Given the description of an element on the screen output the (x, y) to click on. 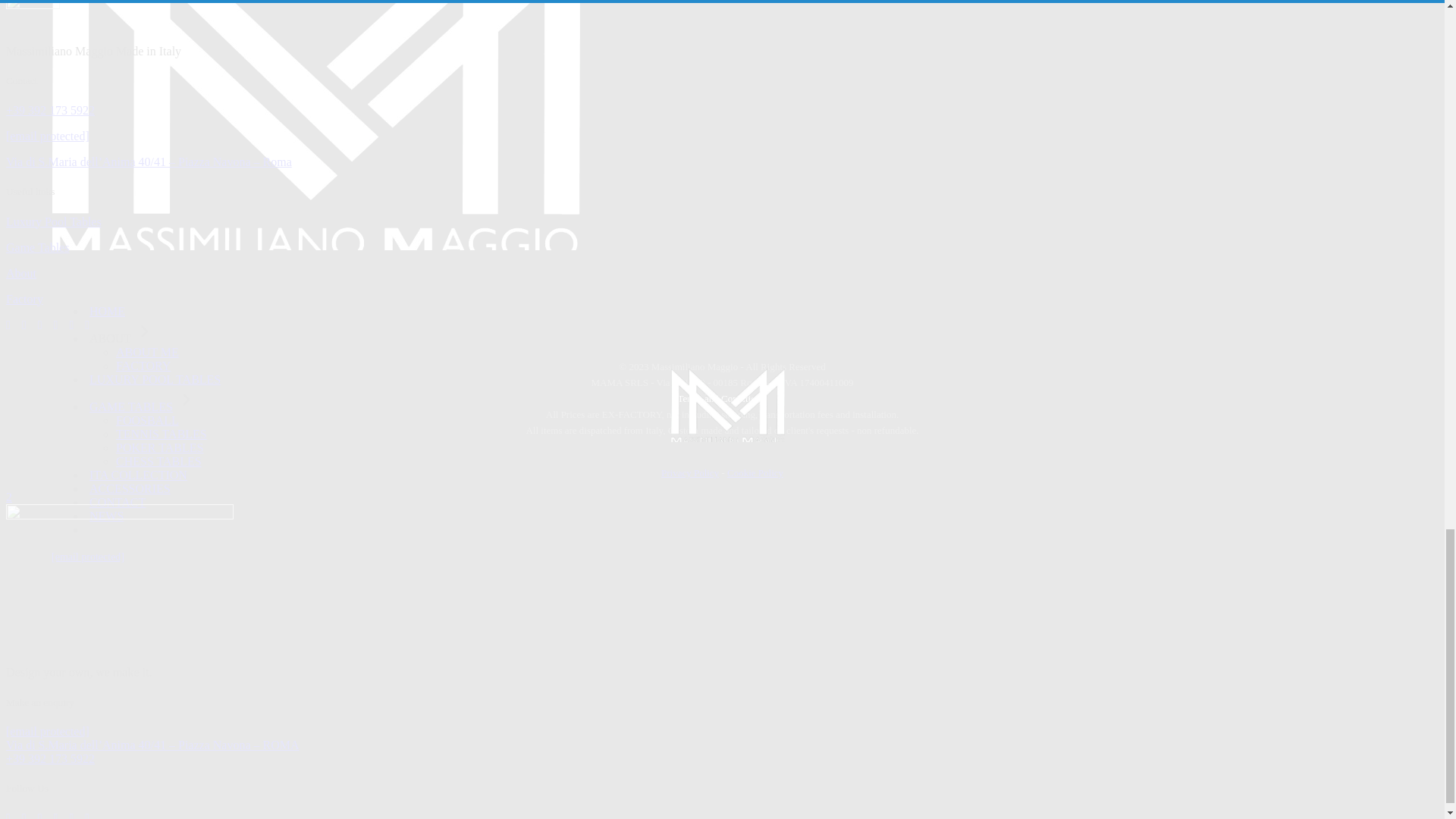
FACTORY (143, 365)
FOOSBALL (147, 420)
GAME TABLES (142, 406)
ABOUT (121, 338)
HOME (107, 310)
LUXURY POOL TABLES (154, 379)
ABOUT ME (147, 351)
